Given the description of an element on the screen output the (x, y) to click on. 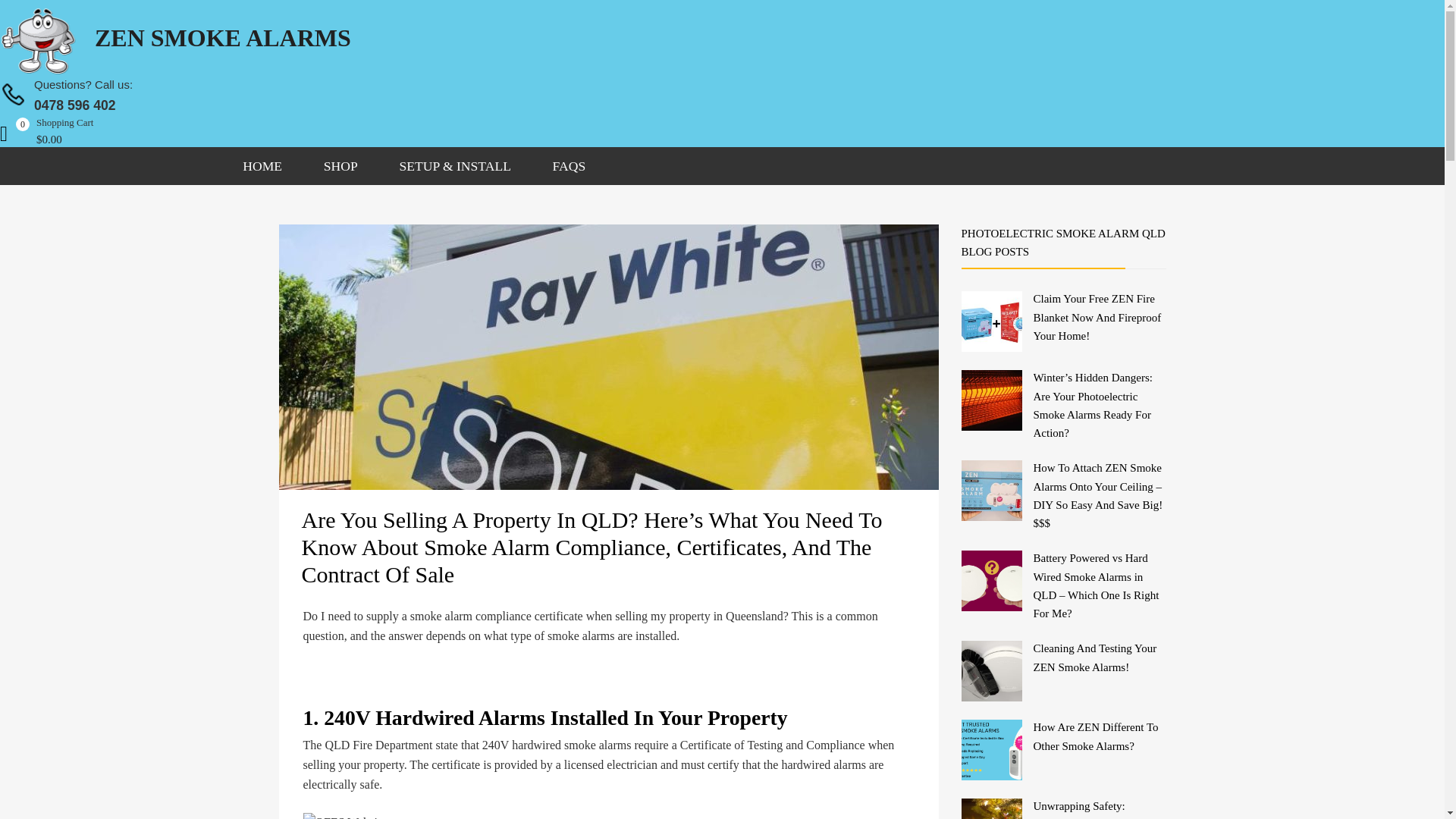
FAQS (568, 166)
Cleaning And Testing Your ZEN Smoke Alarms! (1094, 657)
SHOP (101, 97)
ZEN SMOKE ALARMS (340, 166)
HOME (175, 36)
How Are ZEN Different To Other Smoke Alarms? (262, 166)
